Given the description of an element on the screen output the (x, y) to click on. 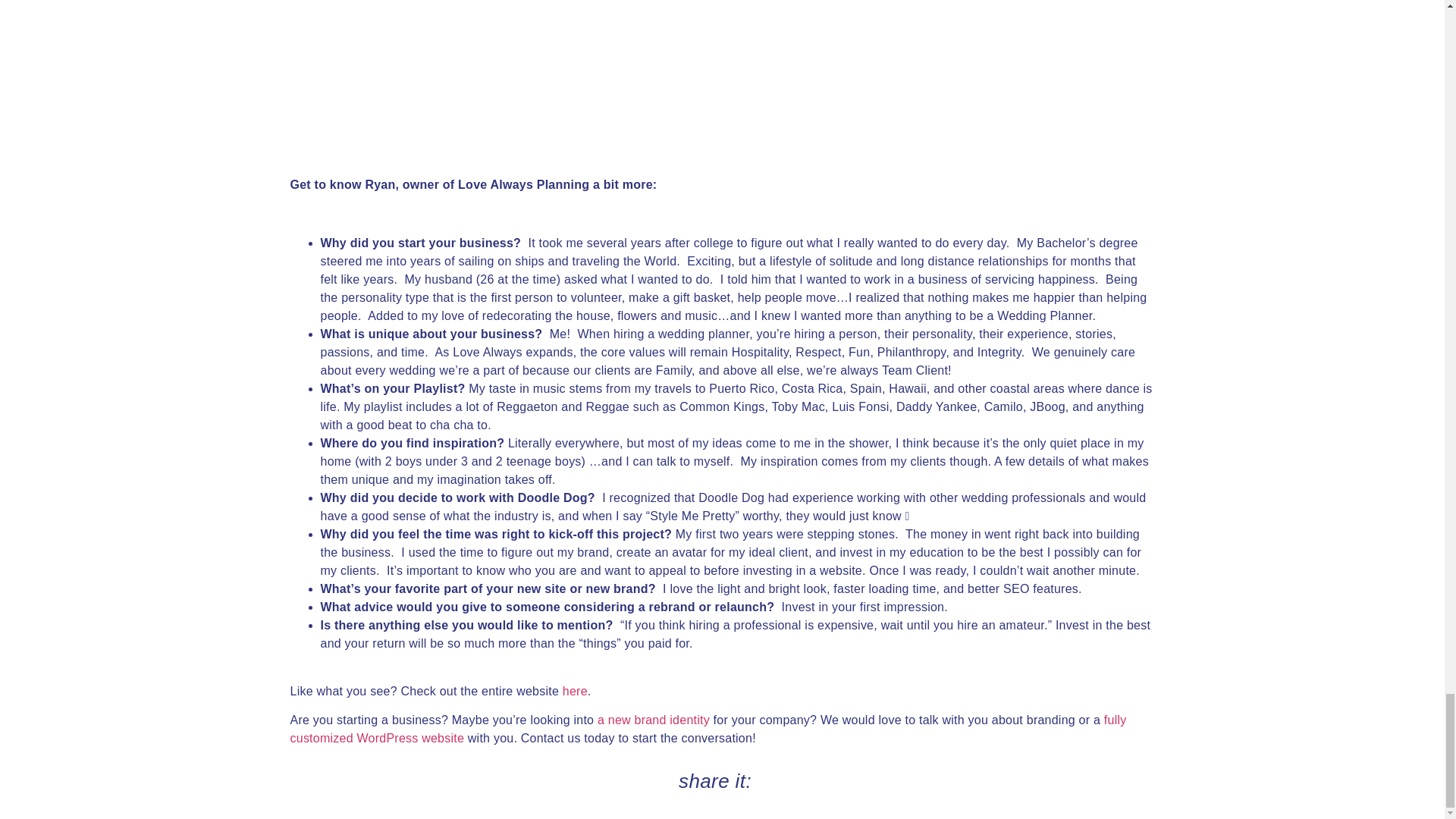
a new brand identity (653, 719)
fully customized WordPress website (707, 728)
here (575, 690)
